Given the description of an element on the screen output the (x, y) to click on. 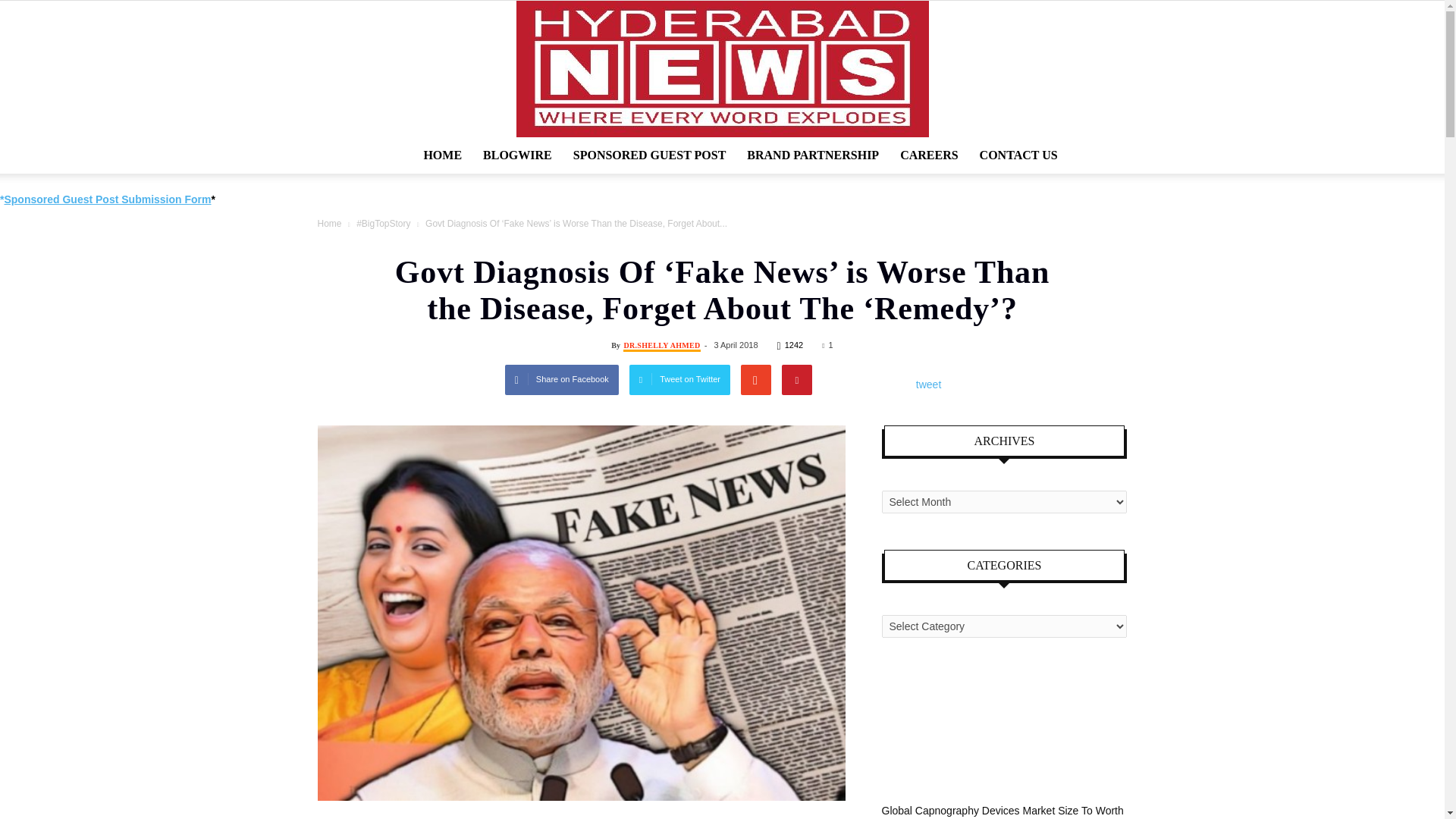
BRAND PARTNERSHIP (812, 155)
Home (328, 223)
BLOGWIRE (516, 155)
HOME (441, 155)
DR.SHELLY AHMED (661, 346)
1 (827, 344)
CONTACT US (1018, 155)
SPONSORED GUEST POST (649, 155)
CAREERS (928, 155)
Hyderabad News (721, 68)
